Given the description of an element on the screen output the (x, y) to click on. 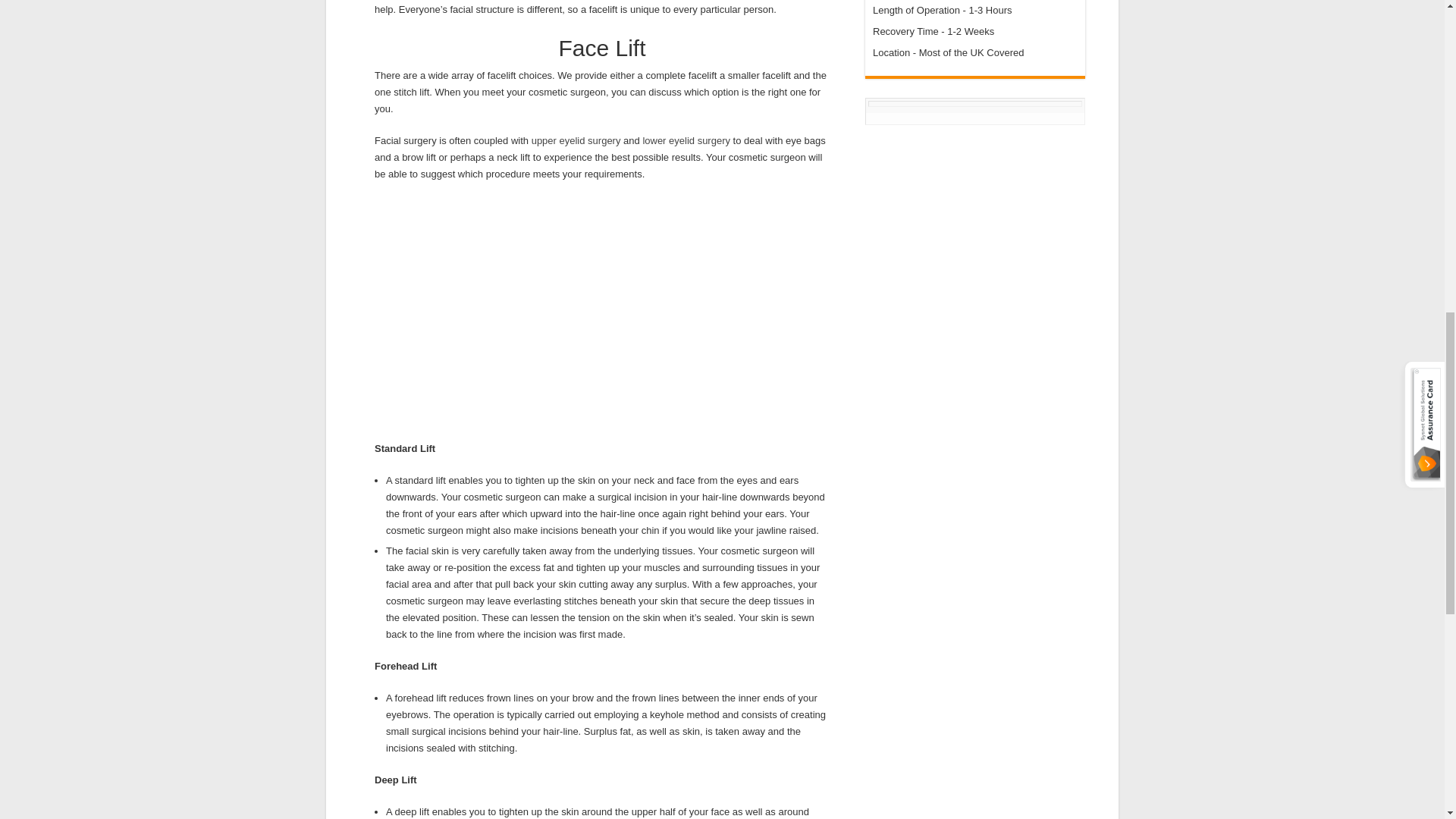
Lower eyelid surgery. (686, 140)
lower eyelid surgery (686, 140)
Scroll To Top (1421, 60)
Upper eyelid surgery. (576, 140)
upper eyelid surgery (576, 140)
